Given the description of an element on the screen output the (x, y) to click on. 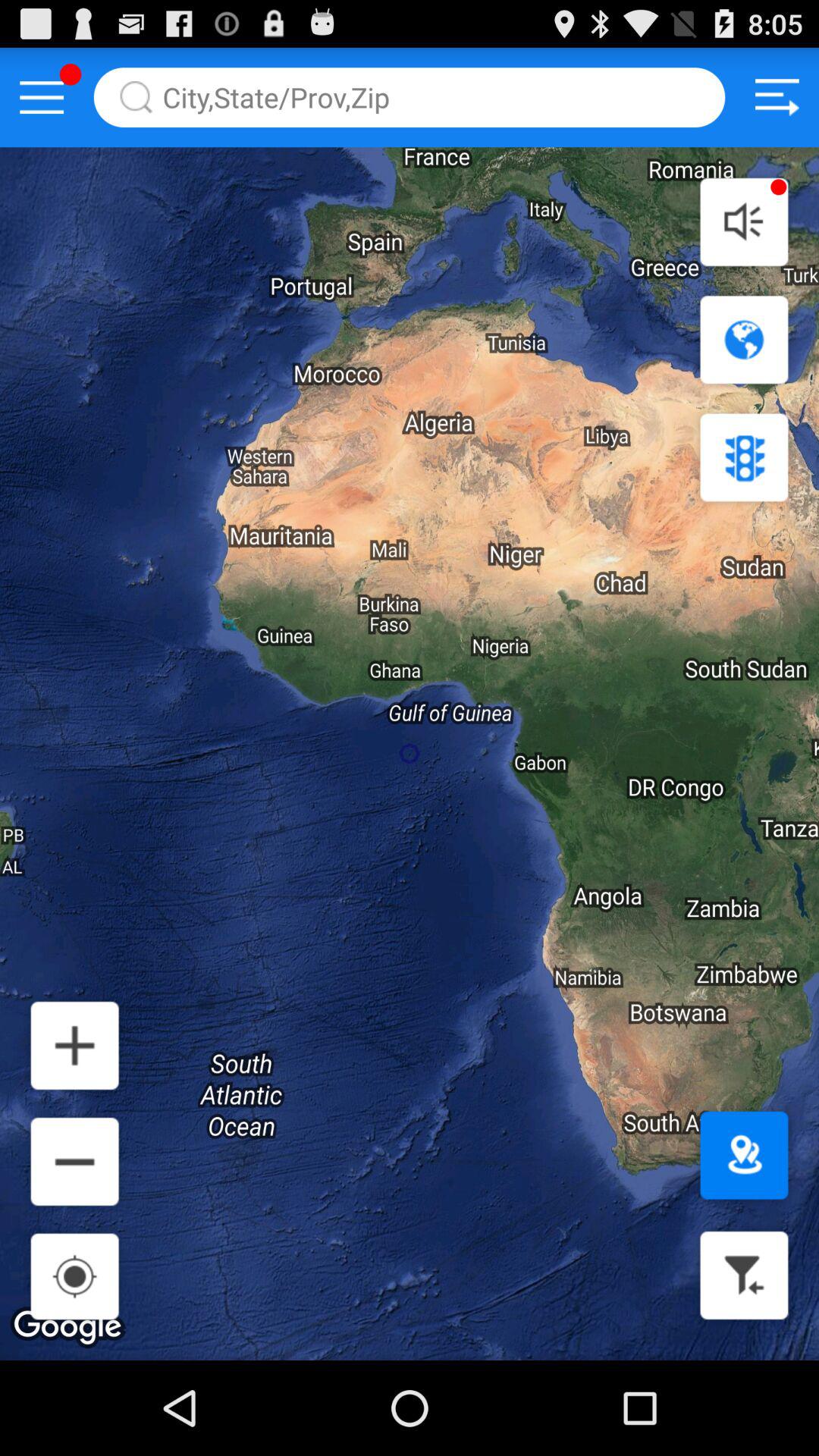
volume (744, 221)
